Given the description of an element on the screen output the (x, y) to click on. 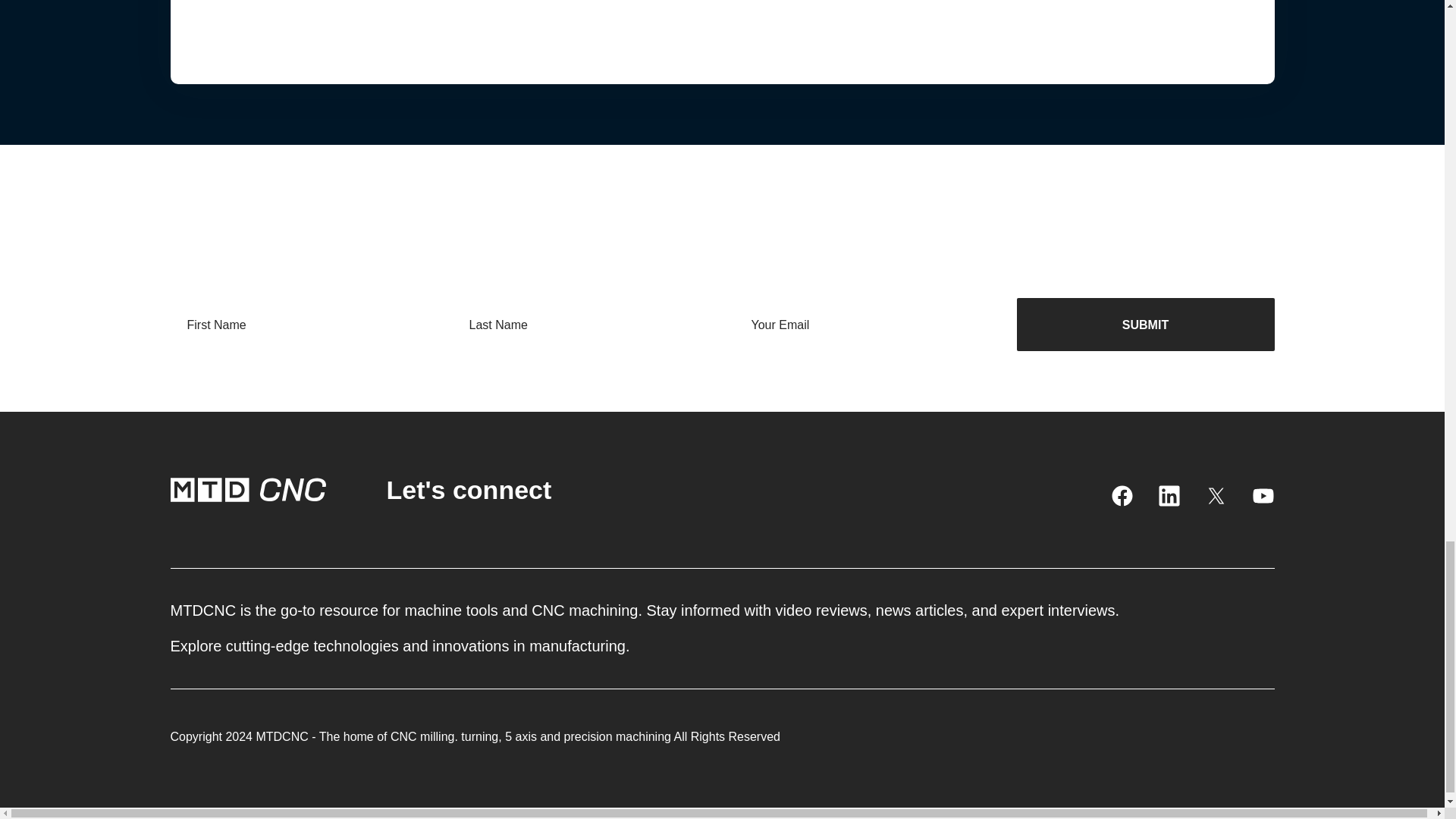
SUBMIT (1145, 324)
Home (247, 489)
Go to LinkedIn (1168, 495)
Go to Facebook (1120, 495)
Go to YouTube (1262, 495)
Go to X (1215, 495)
